Given the description of an element on the screen output the (x, y) to click on. 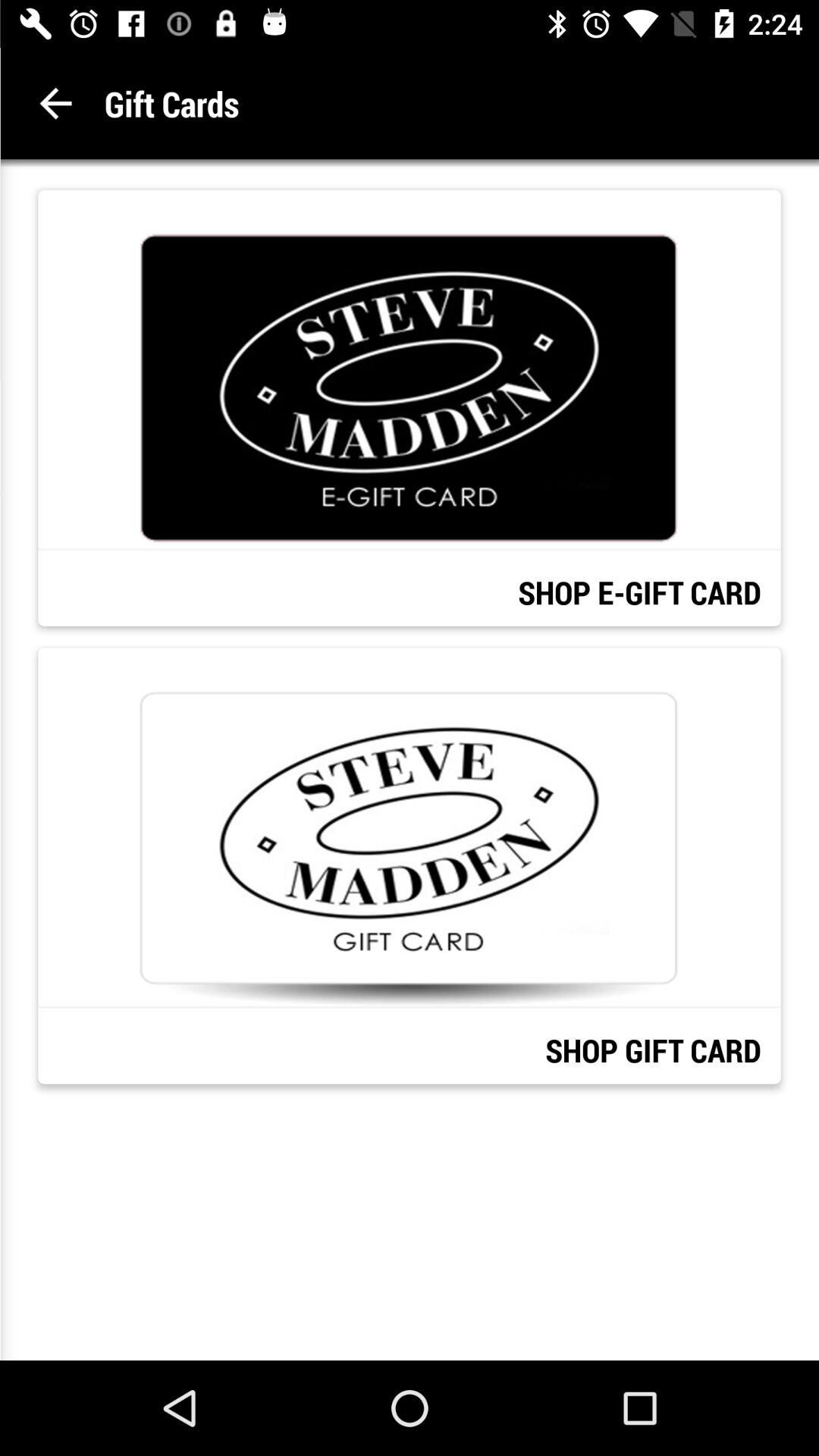
press the item to the left of gift cards item (55, 103)
